Given the description of an element on the screen output the (x, y) to click on. 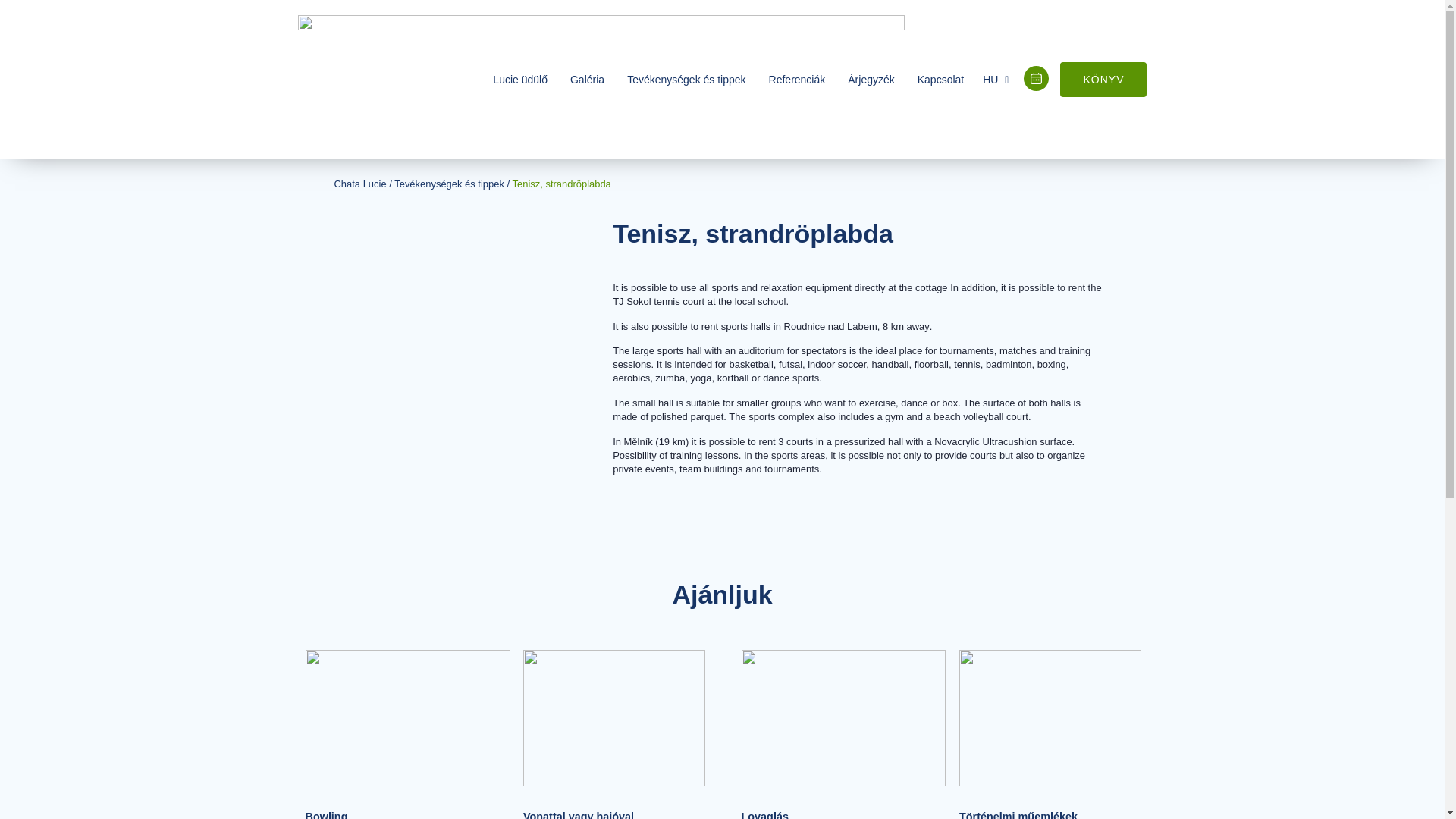
Chata Lucie (359, 183)
Bowling (325, 814)
Kapcsolat (940, 79)
